Given the description of an element on the screen output the (x, y) to click on. 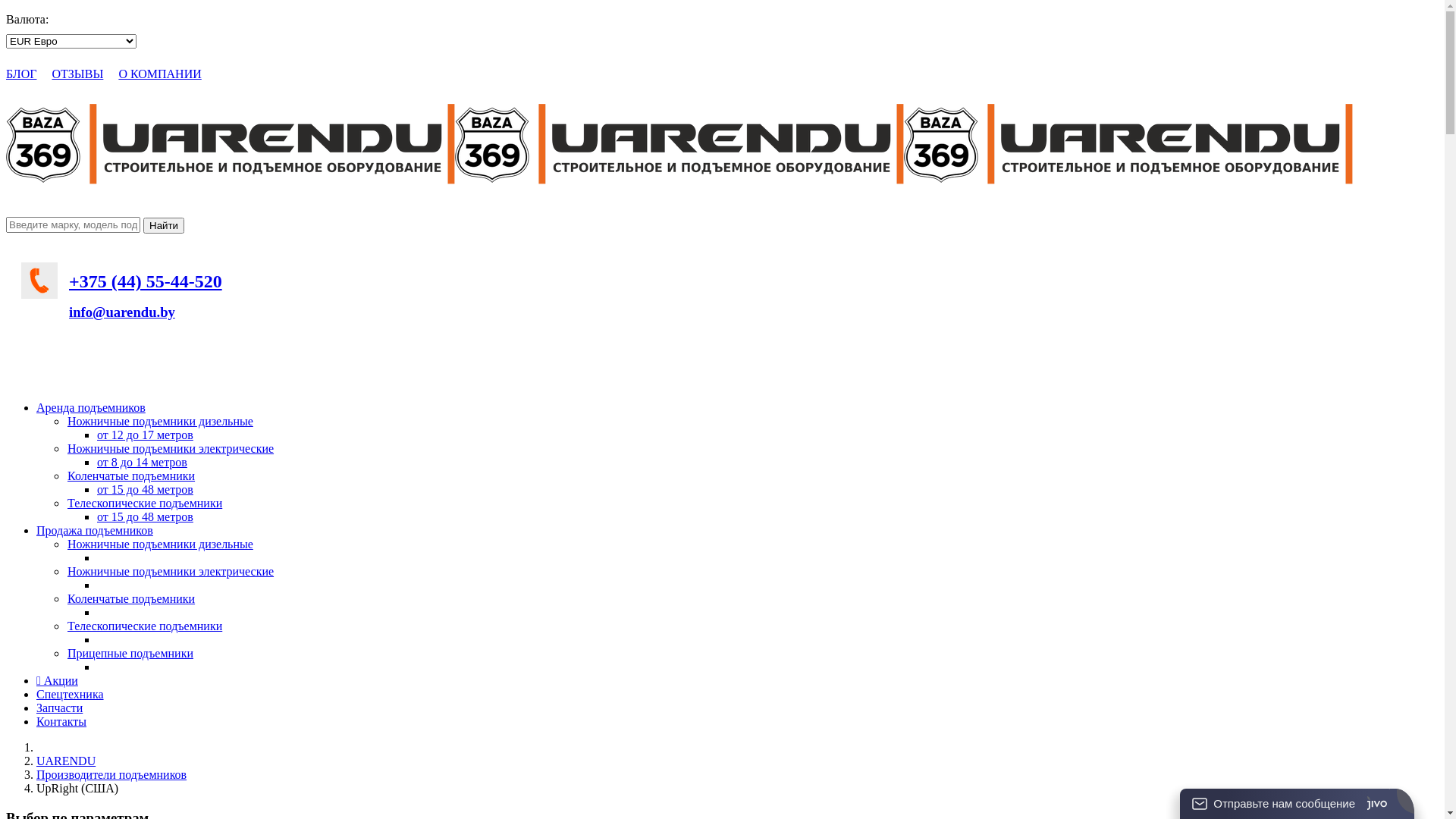
info@uarendu.by Element type: text (122, 312)
UARENDU Element type: text (65, 760)
+375 (44) 55-44-520 Element type: text (145, 281)
